Given the description of an element on the screen output the (x, y) to click on. 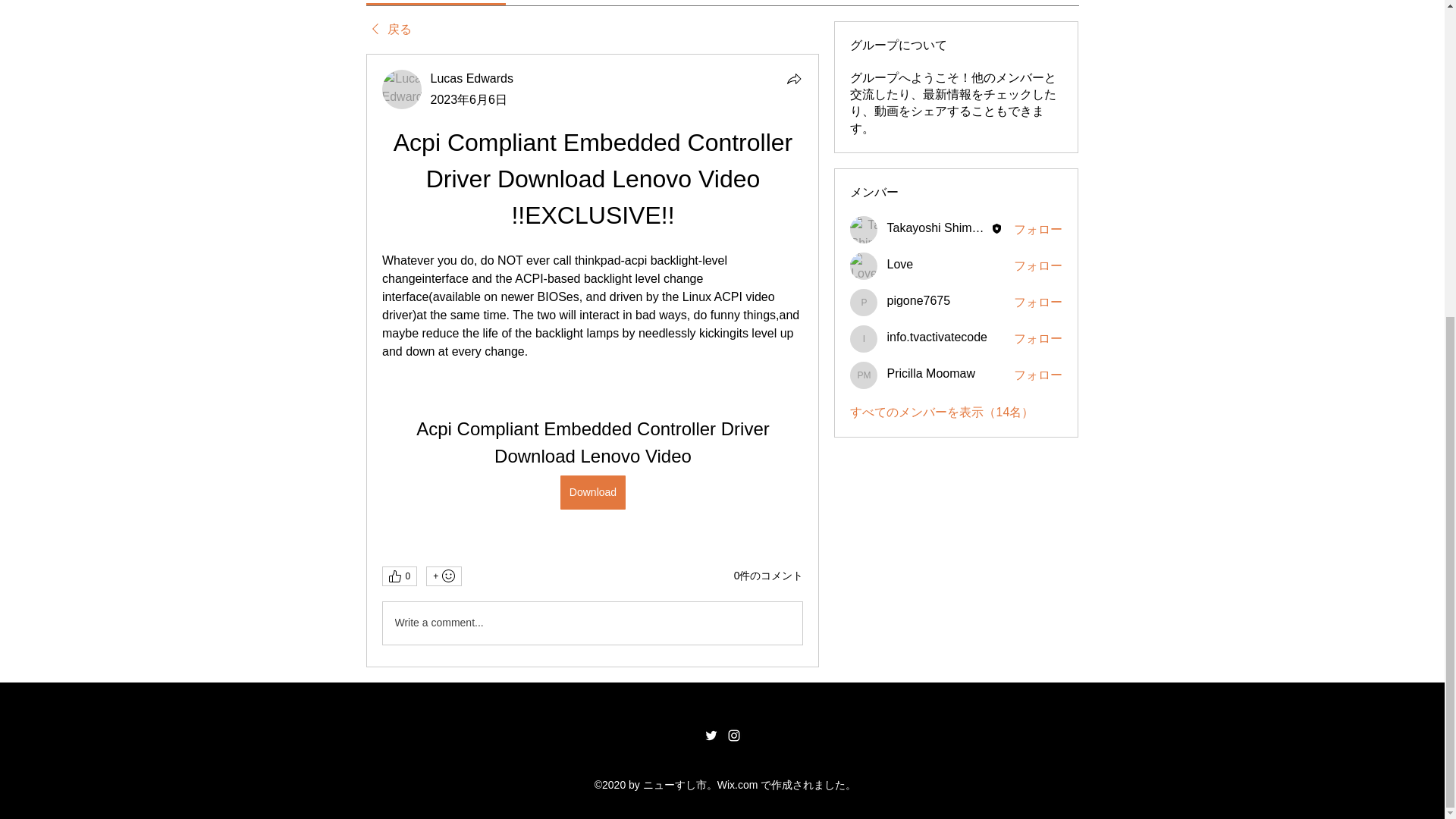
Takayoshi Shimobayashi (863, 229)
info.tvactivatecode (936, 337)
Lucas Edwards (471, 78)
Lucas Edwards (401, 88)
Pricilla Moomaw (863, 375)
Love (863, 266)
pigone7675 (863, 302)
Write a comment... (591, 622)
Pricilla Moomaw (930, 373)
